Given the description of an element on the screen output the (x, y) to click on. 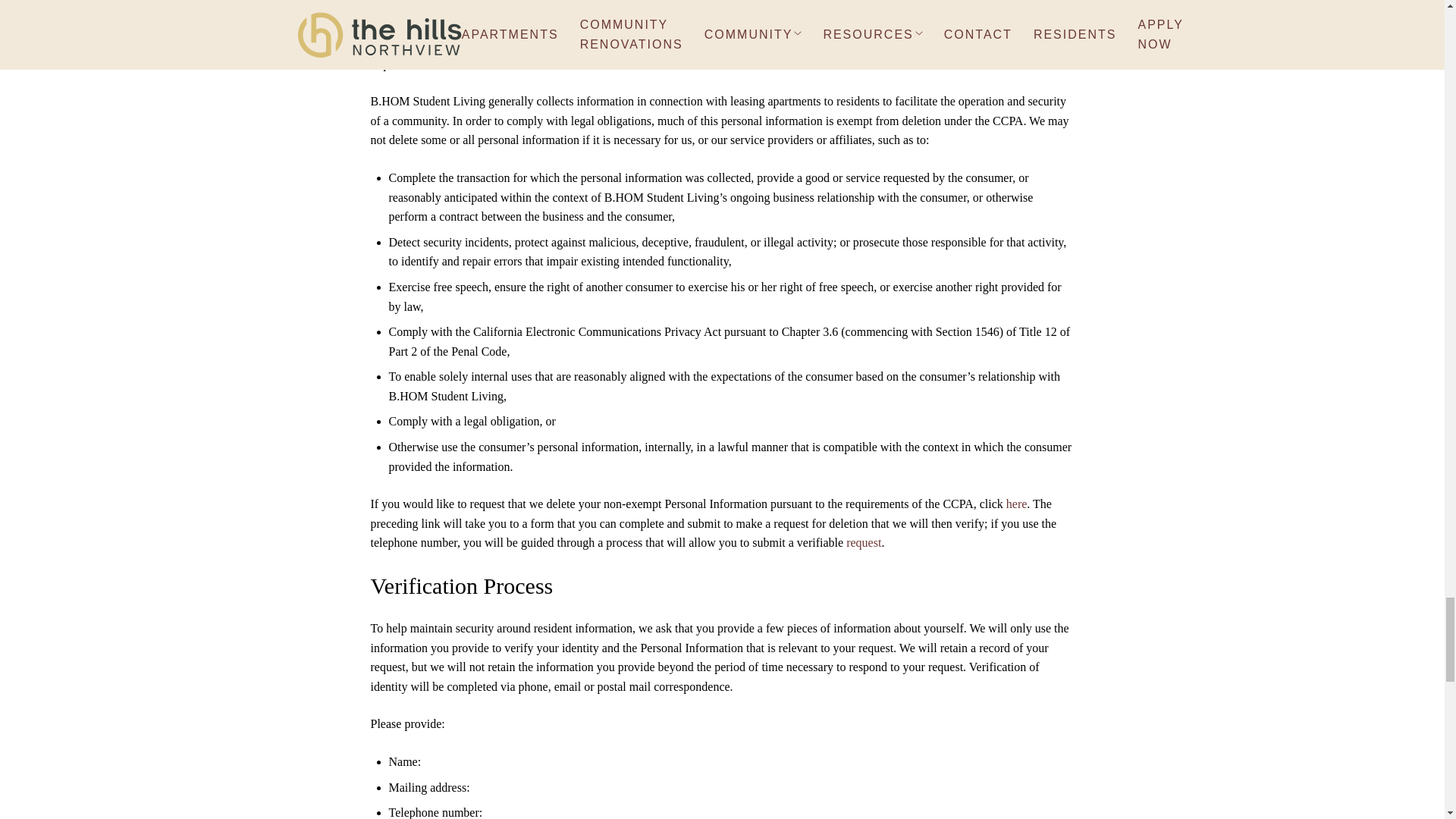
here (1016, 503)
request (862, 542)
